Given the description of an element on the screen output the (x, y) to click on. 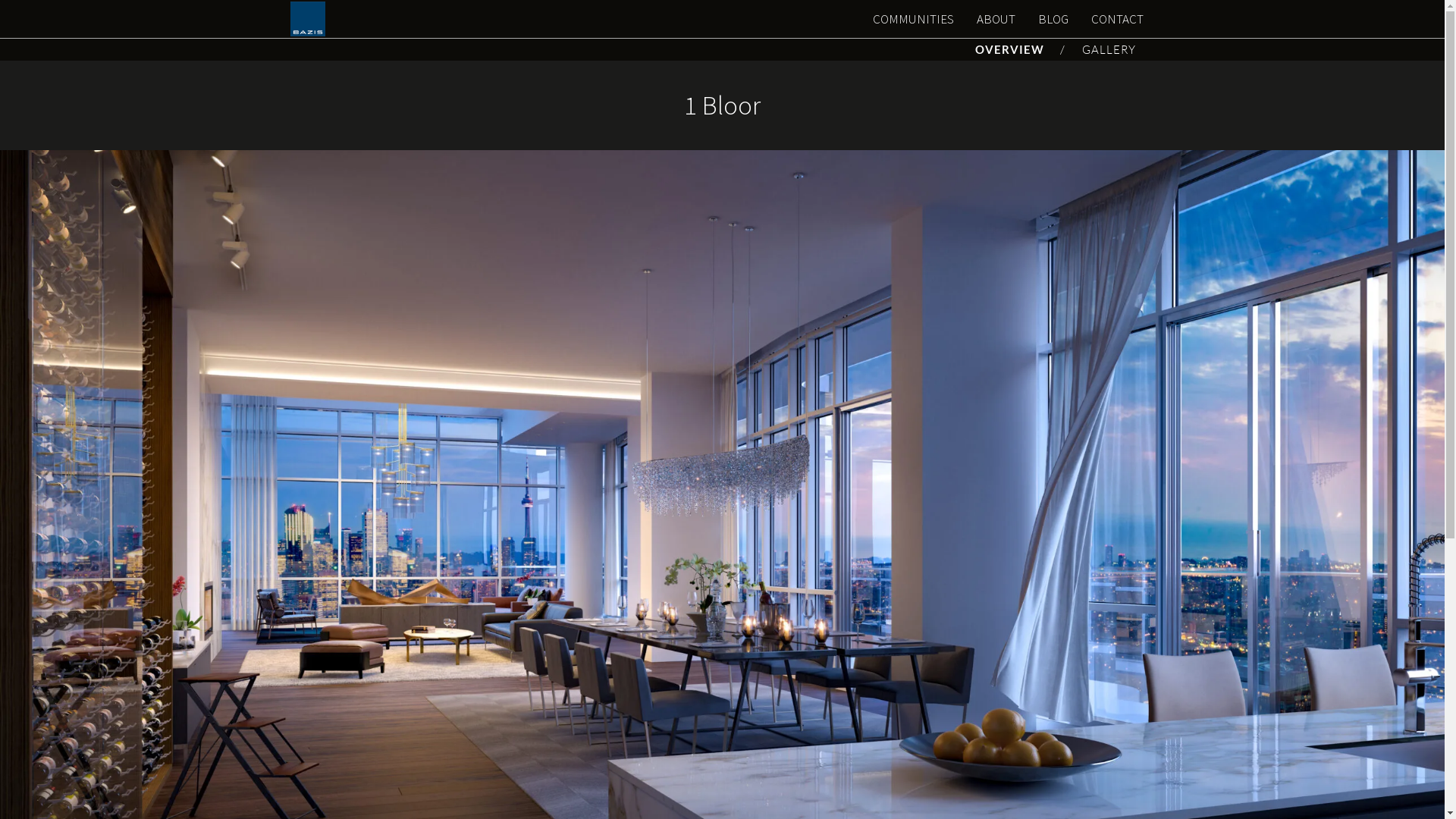
GALLERY Element type: text (1108, 49)
BLOG Element type: text (1052, 18)
COMMUNITIES Element type: text (913, 18)
CONTACT Element type: text (1116, 18)
OVERVIEW Element type: text (1008, 48)
ABOUT Element type: text (995, 18)
